Given the description of an element on the screen output the (x, y) to click on. 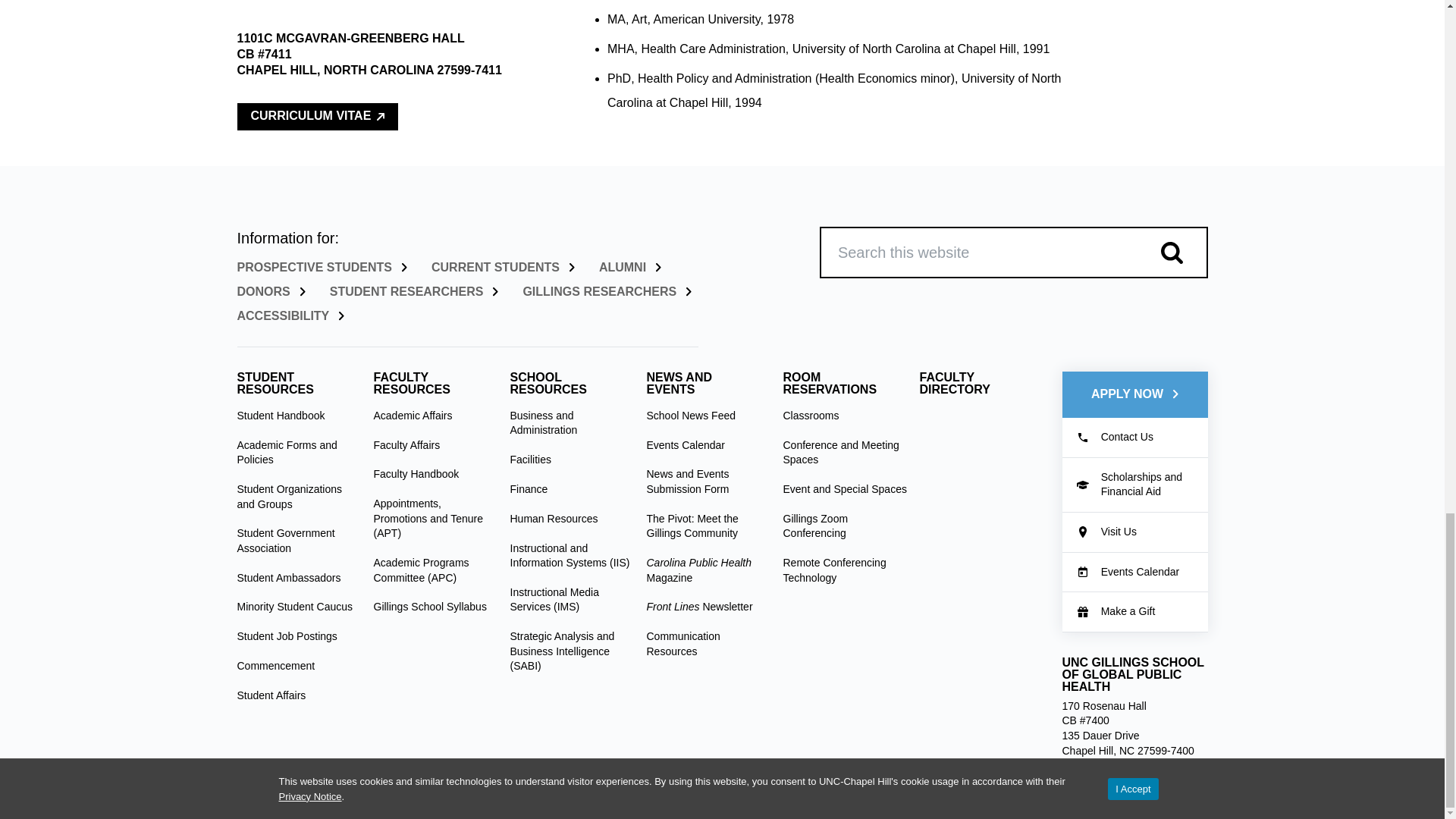
Prospective Students (320, 267)
Accessibility (289, 316)
Gillings Researchers (606, 291)
Alumni (629, 267)
Donors (269, 291)
Current Students (502, 267)
Student Researchers (414, 291)
